Given the description of an element on the screen output the (x, y) to click on. 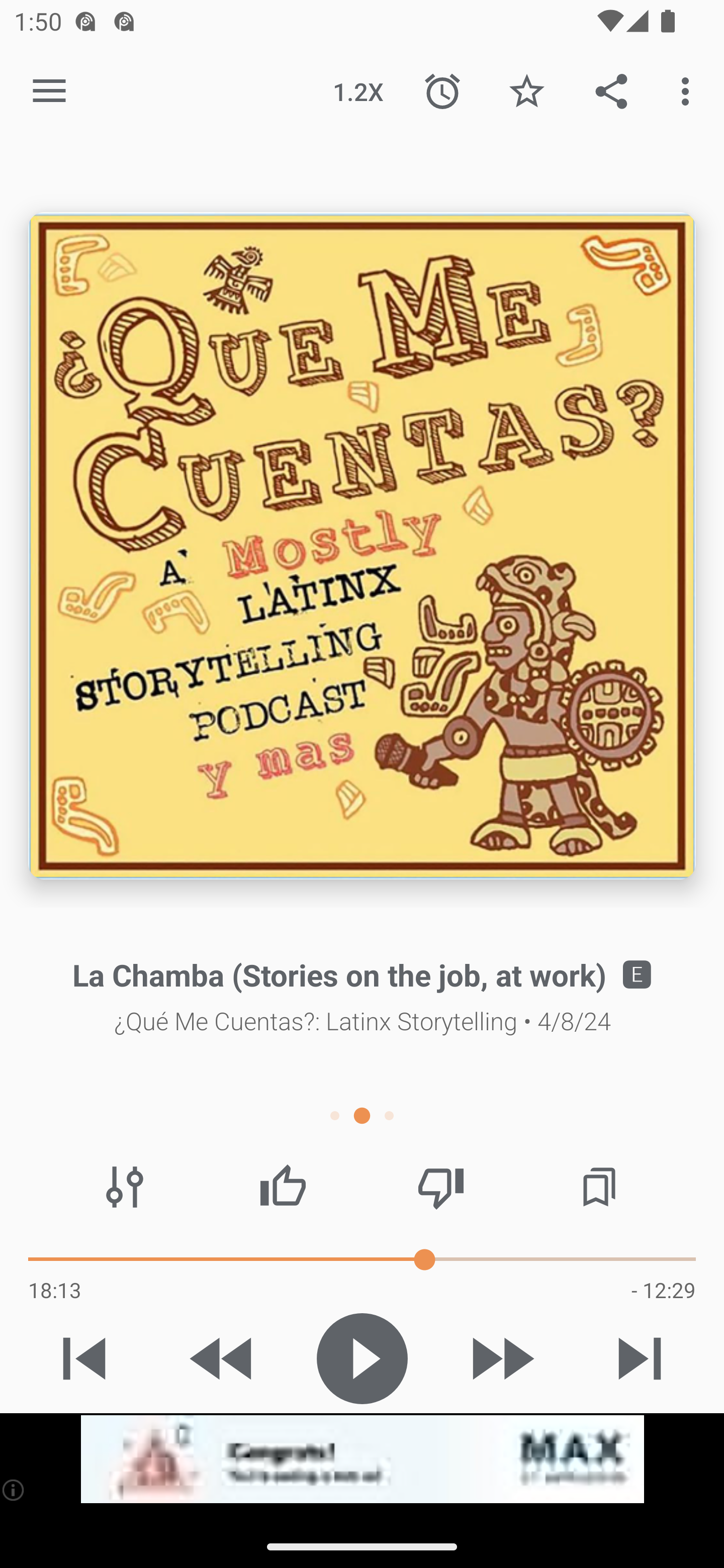
Open navigation sidebar (49, 91)
1.2X (357, 90)
Sleep Timer (442, 90)
Favorite (526, 90)
Share (611, 90)
More options (688, 90)
Episode description (361, 545)
Audio effects (124, 1186)
Thumbs up (283, 1186)
Thumbs down (440, 1186)
Chapters / Bookmarks (598, 1186)
- 12:29 (663, 1289)
Previous track (84, 1358)
Skip 15s backward (222, 1358)
Play / Pause (362, 1358)
Skip 30s forward (500, 1358)
Next track (639, 1358)
app-monetization (362, 1459)
(i) (14, 1489)
